Given the description of an element on the screen output the (x, y) to click on. 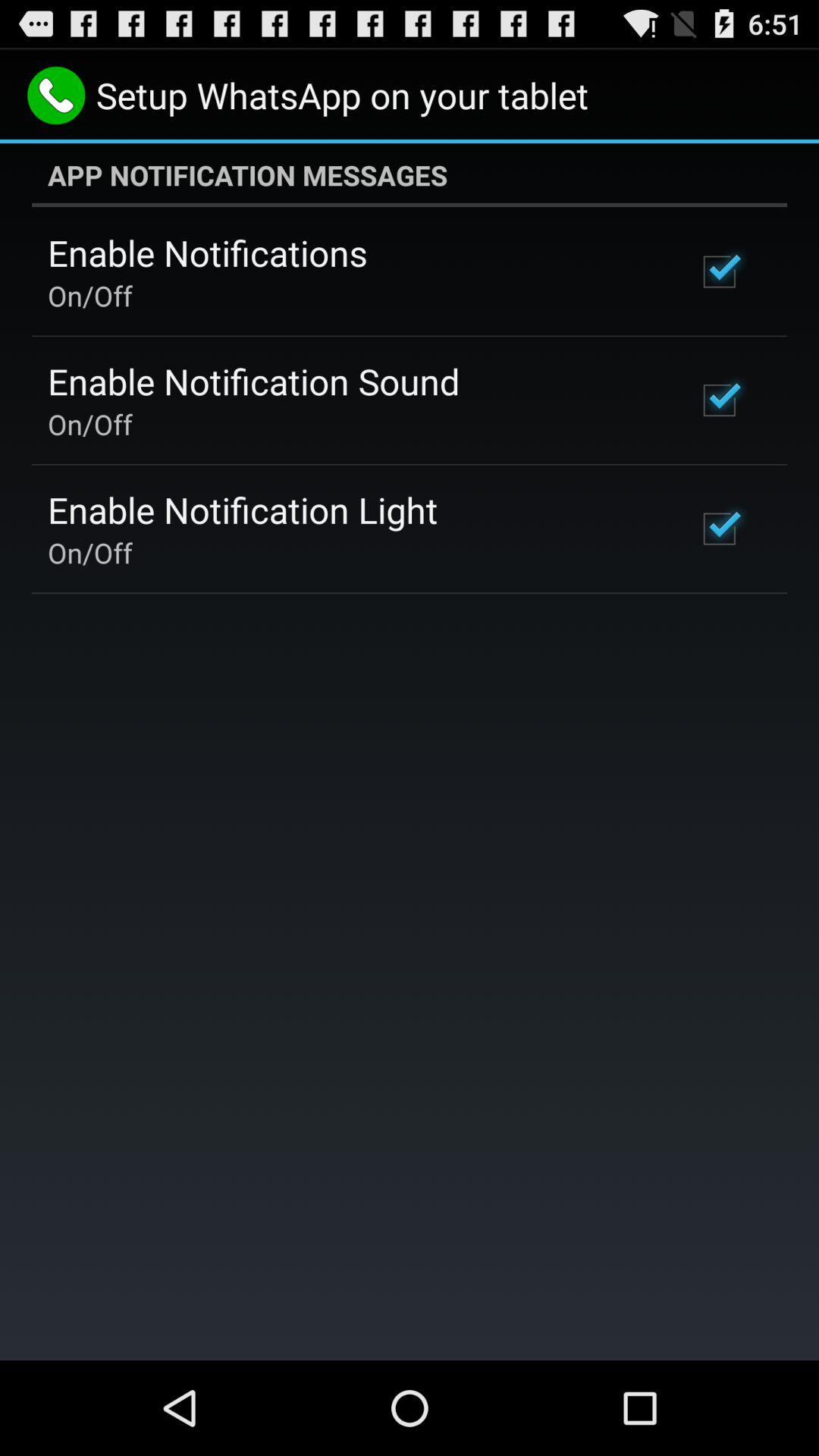
click the app above on/off app (207, 252)
